Given the description of an element on the screen output the (x, y) to click on. 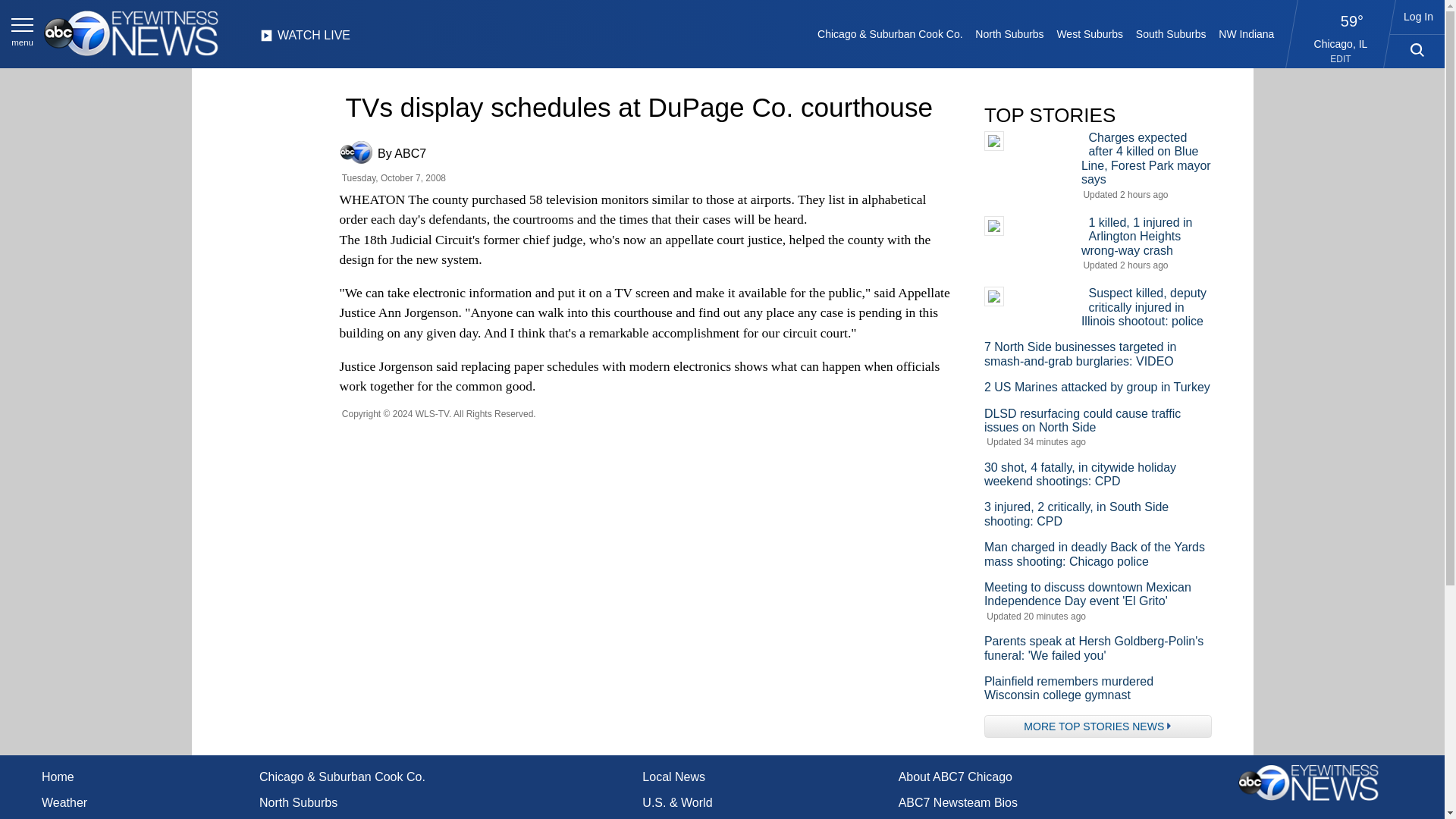
NW Indiana (1246, 33)
South Suburbs (1170, 33)
WATCH LIVE (305, 39)
West Suburbs (1089, 33)
EDIT (1340, 59)
North Suburbs (1009, 33)
Chicago, IL (1340, 43)
